Given the description of an element on the screen output the (x, y) to click on. 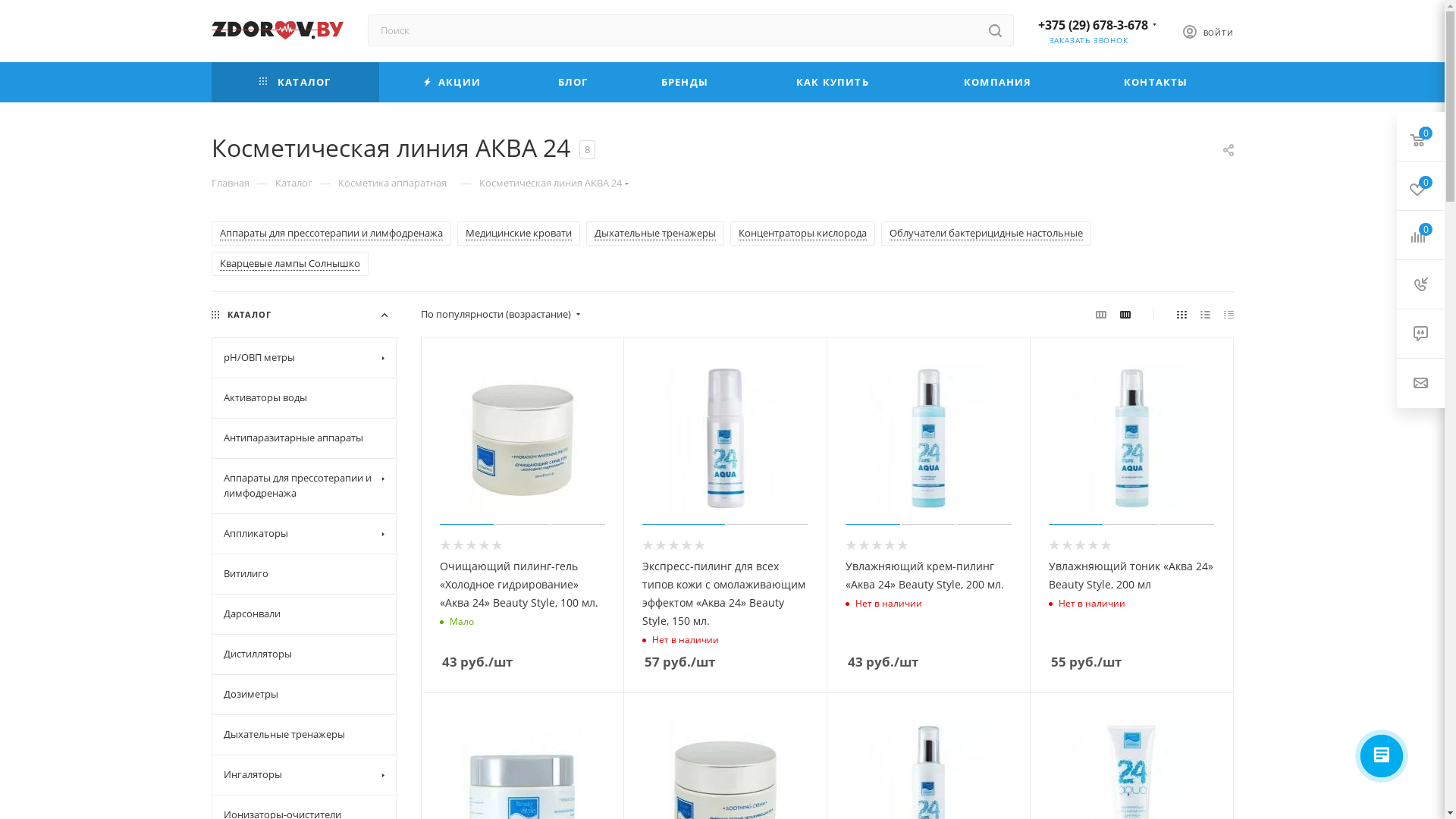
zdorov.by Element type: hover (276, 29)
+375 (29) 678-3-678 Element type: text (1092, 24)
